Given the description of an element on the screen output the (x, y) to click on. 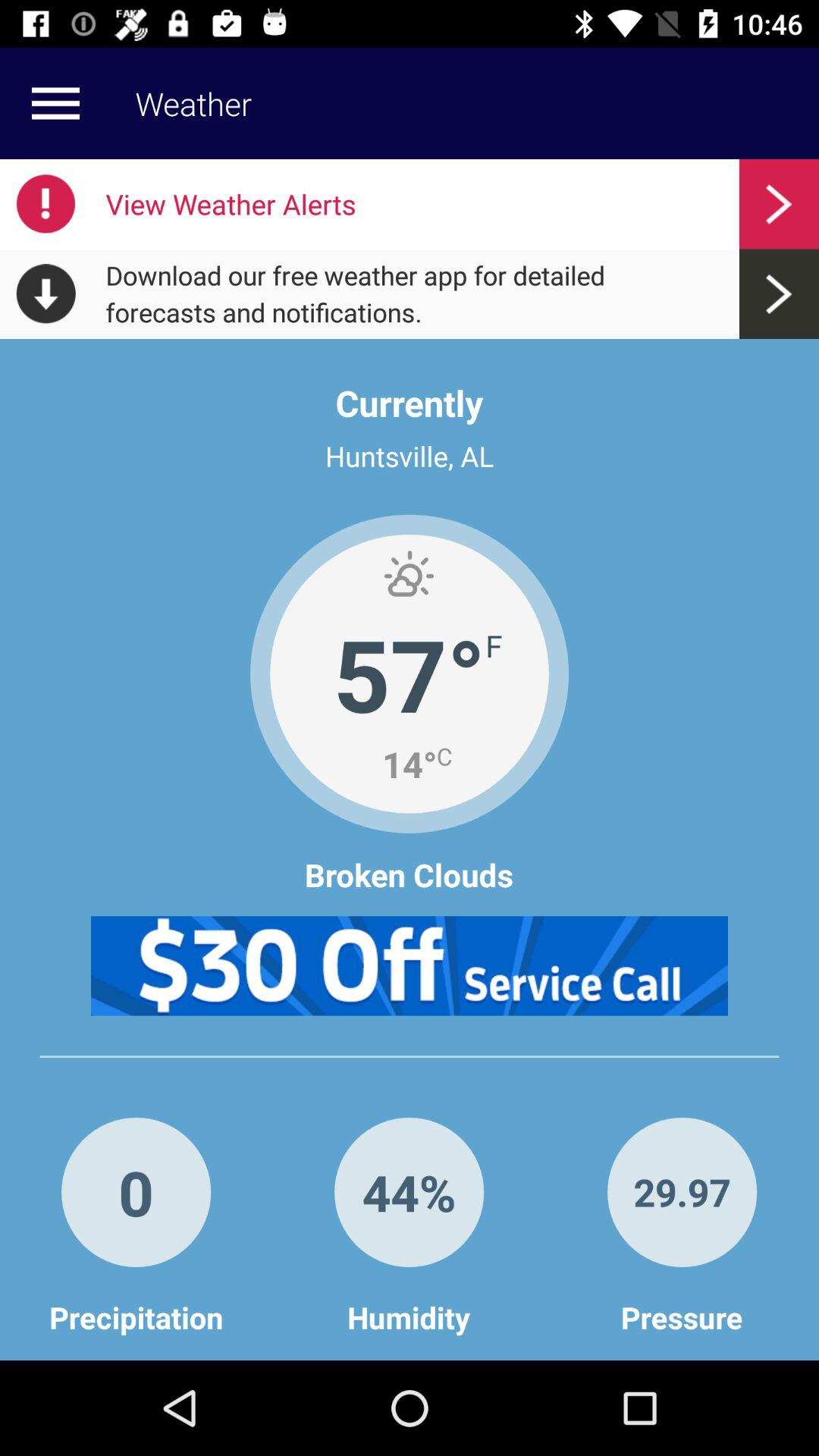
click advertisement (409, 965)
